Given the description of an element on the screen output the (x, y) to click on. 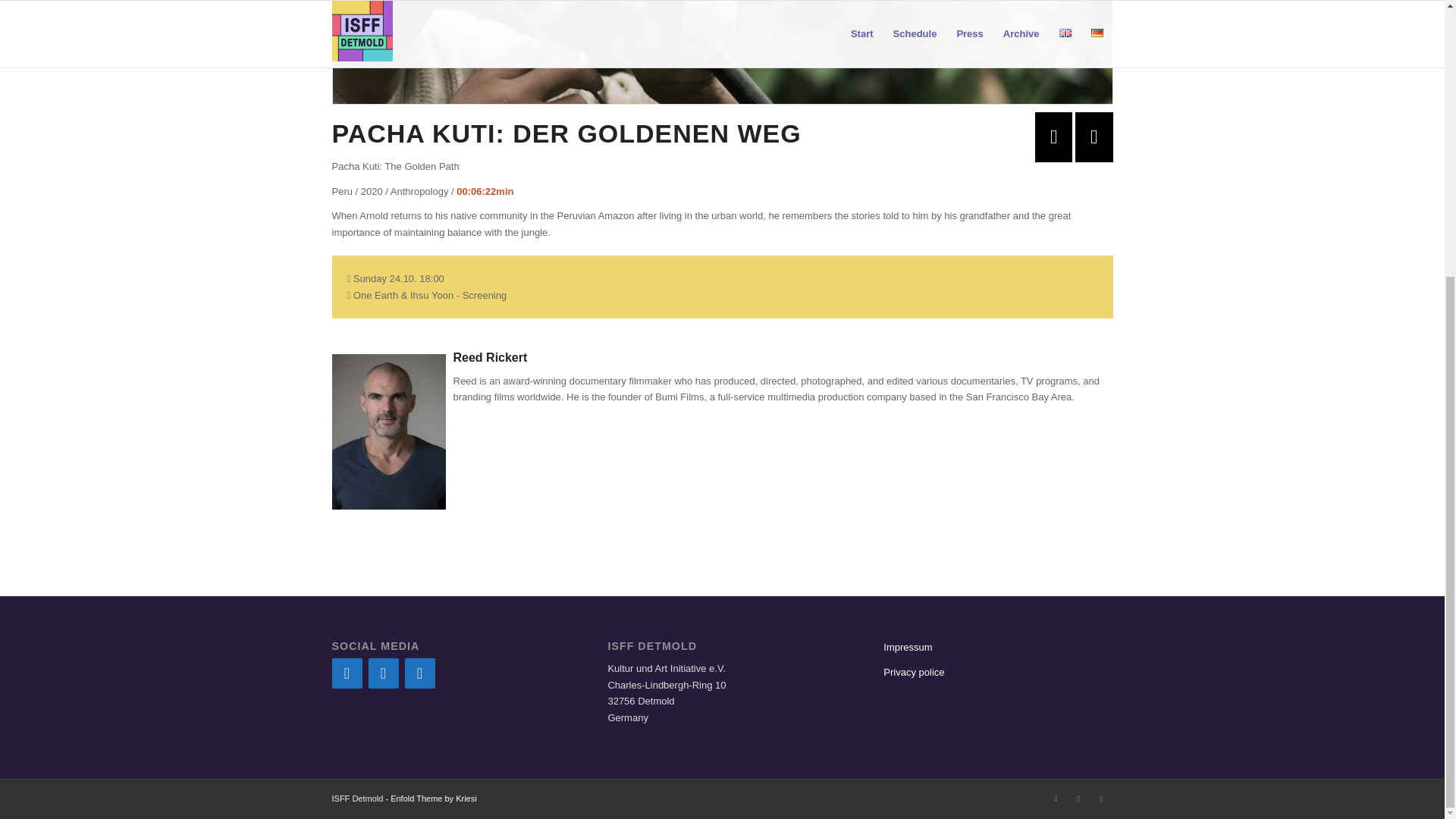
Youtube (1101, 798)
Facebook (346, 673)
YouTube (419, 673)
Instagram (1078, 798)
Facebook (1056, 798)
Instagram (383, 673)
